Given the description of an element on the screen output the (x, y) to click on. 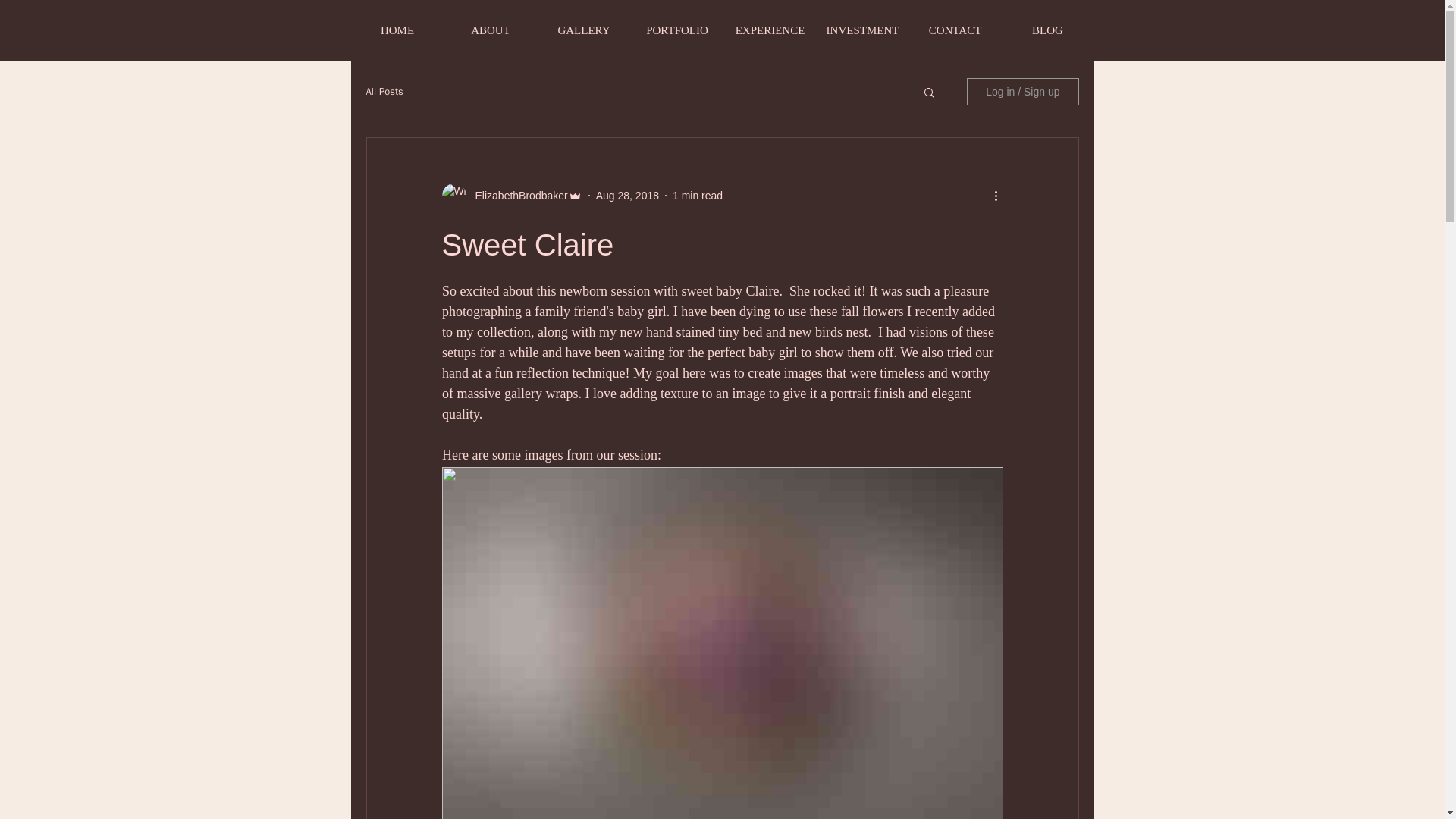
GALLERY (584, 30)
EXPERIENCE (770, 30)
BLOG (1048, 30)
All Posts (384, 91)
Aug 28, 2018 (627, 195)
ElizabethBrodbaker (516, 195)
ABOUT (489, 30)
INVESTMENT (863, 30)
HOME (398, 30)
1 min read (697, 195)
